Given the description of an element on the screen output the (x, y) to click on. 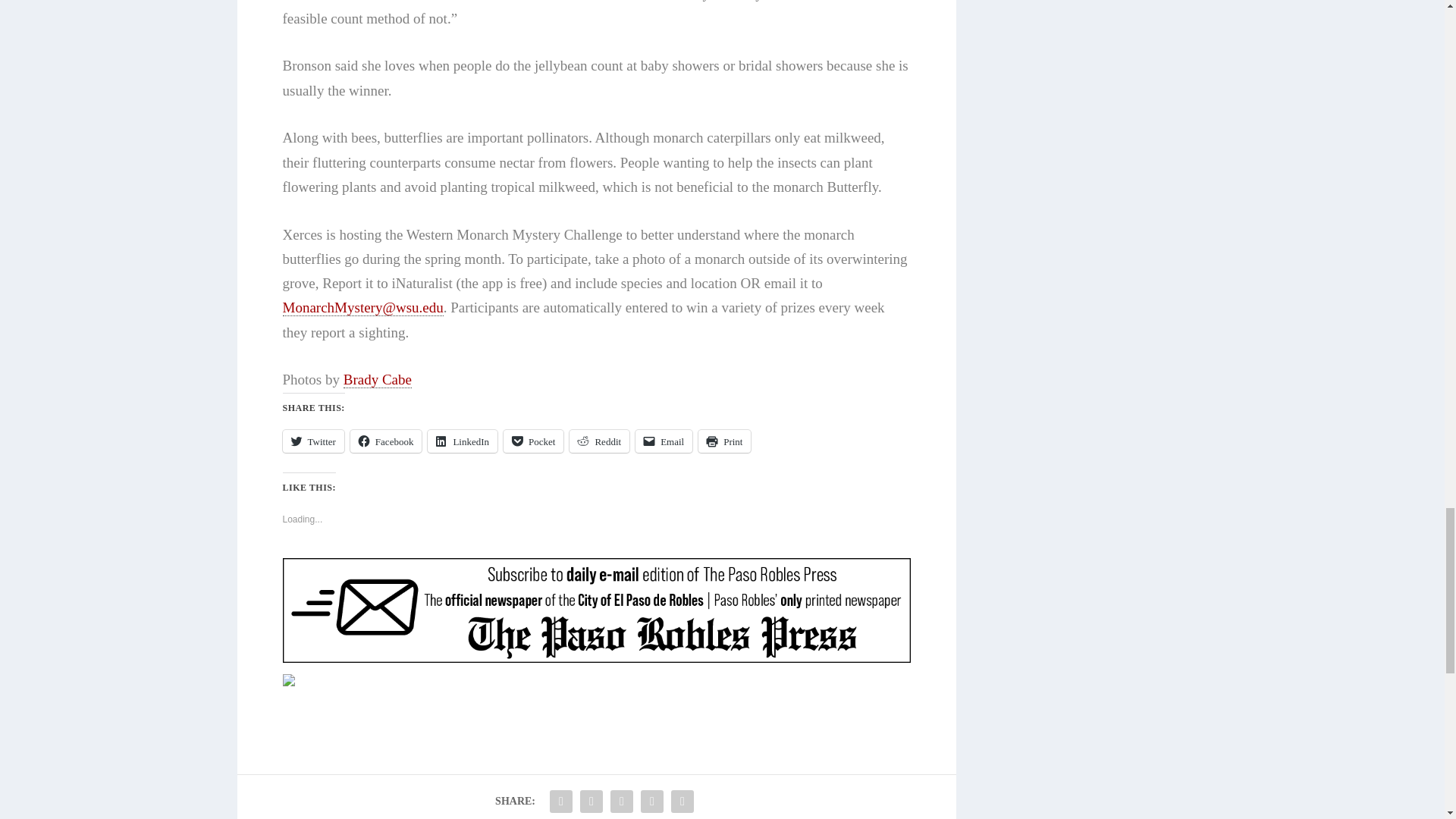
Email (663, 440)
LinkedIn (462, 440)
Click to share on Reddit (598, 440)
Brady Cabe (377, 379)
Click to print (724, 440)
Click to share on Twitter (312, 440)
Pocket (533, 440)
Click to share on Pocket (533, 440)
Reddit (598, 440)
Twitter (312, 440)
Click to email a link to a friend (663, 440)
Facebook (386, 440)
Click to share on Facebook (386, 440)
Click to share on LinkedIn (462, 440)
Print (724, 440)
